Given the description of an element on the screen output the (x, y) to click on. 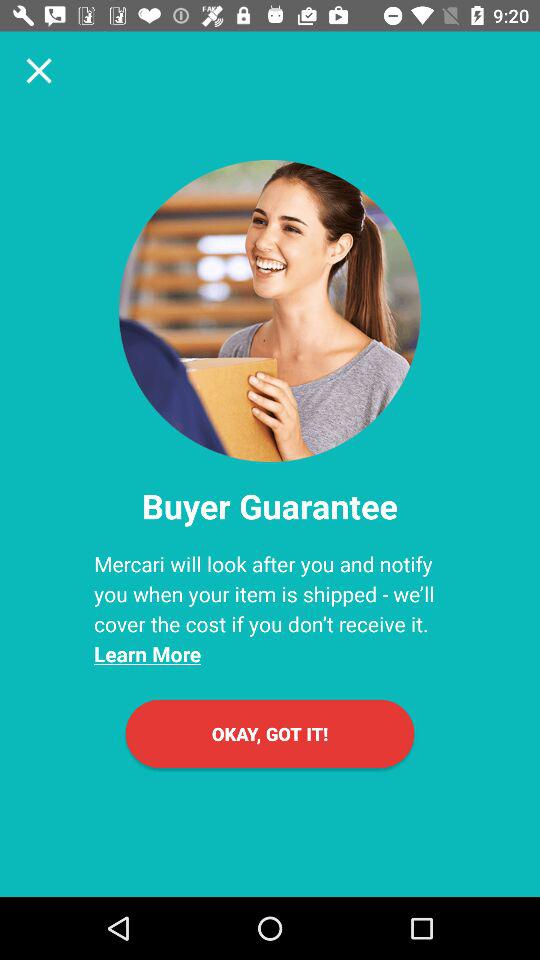
exit current screen (39, 70)
